Given the description of an element on the screen output the (x, y) to click on. 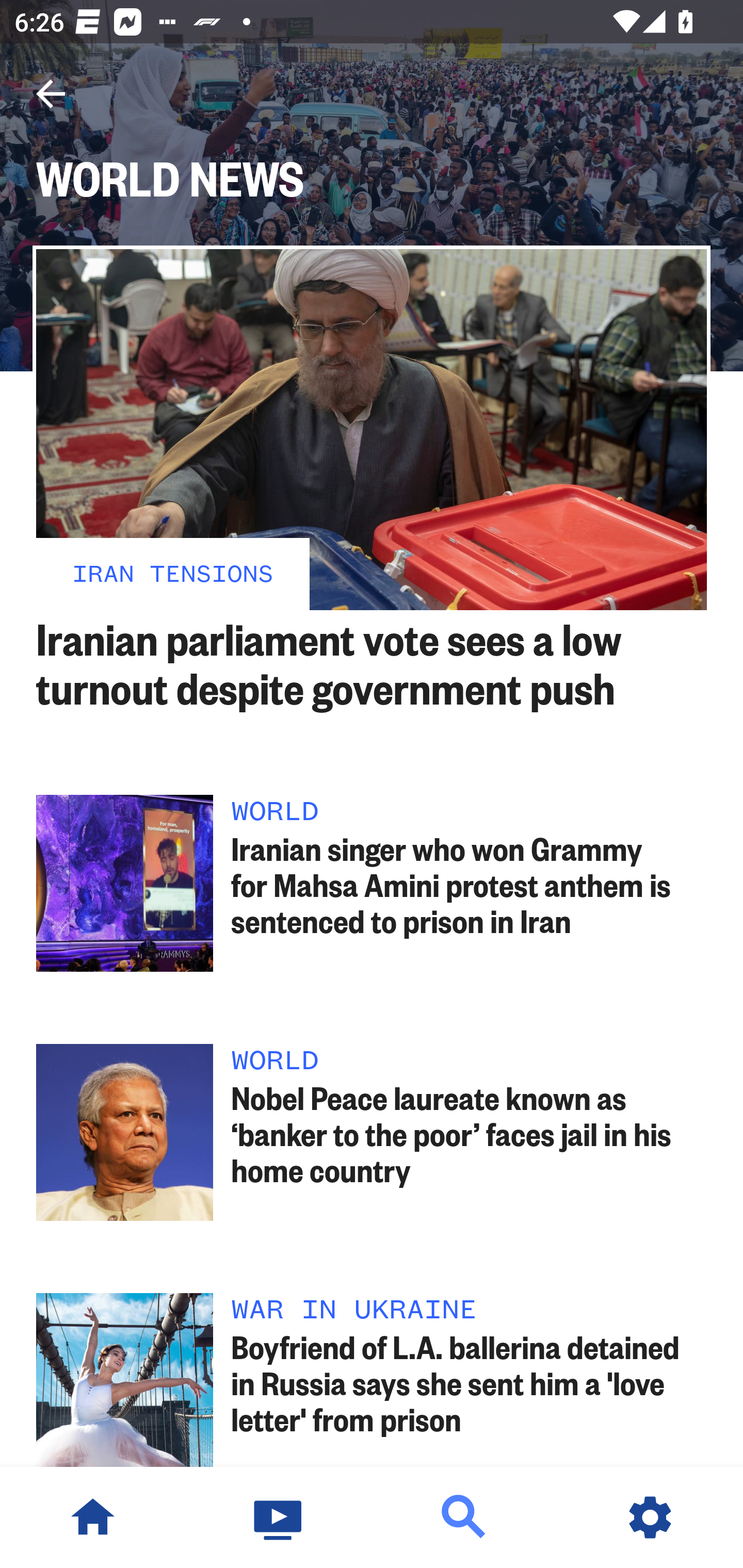
Navigate up (50, 93)
NBC News Home (92, 1517)
Watch (278, 1517)
Settings (650, 1517)
